Given the description of an element on the screen output the (x, y) to click on. 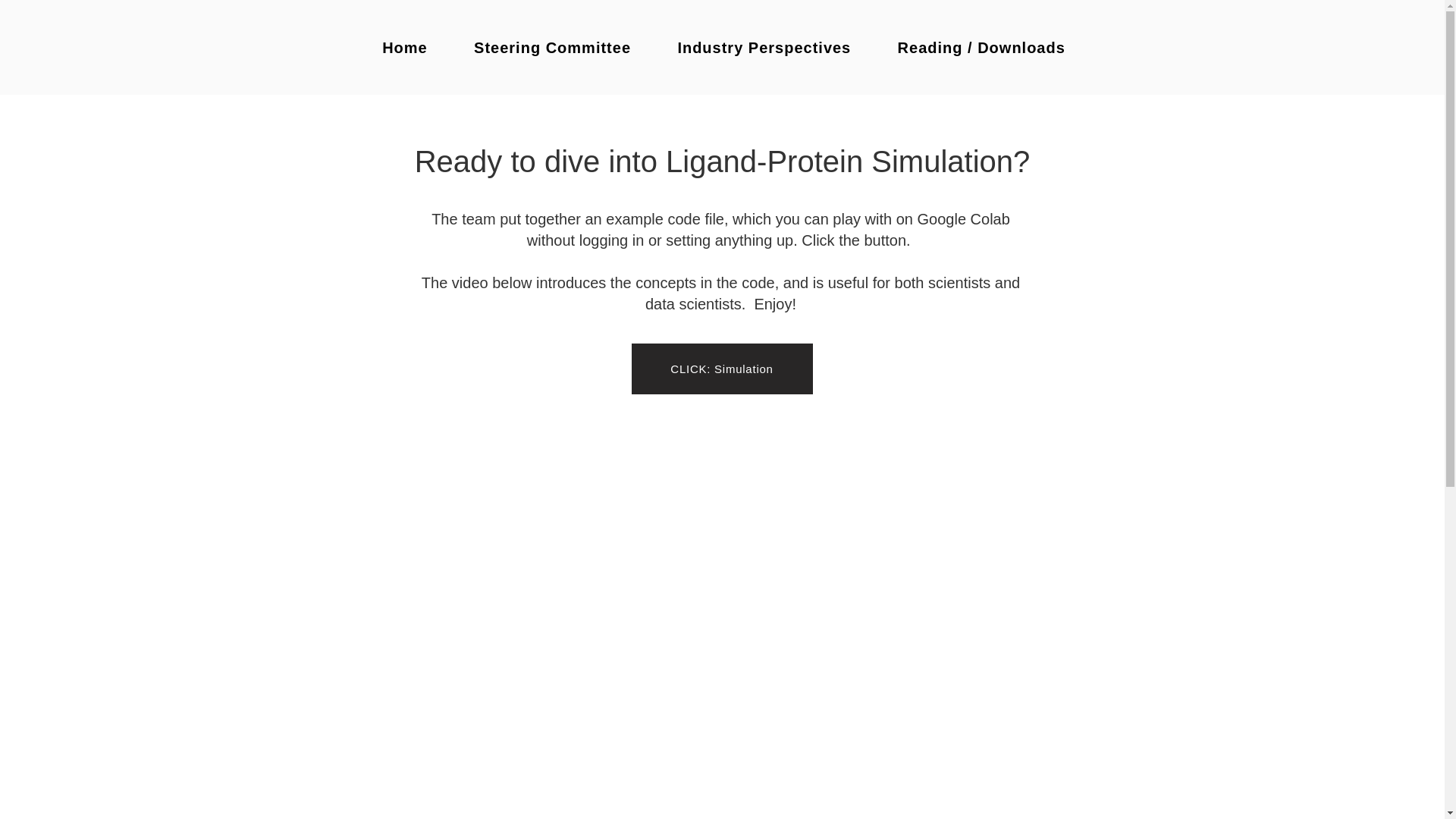
CLICK: Simulation (721, 368)
Home (405, 47)
Industry Perspectives (764, 47)
Steering Committee (551, 47)
